Given the description of an element on the screen output the (x, y) to click on. 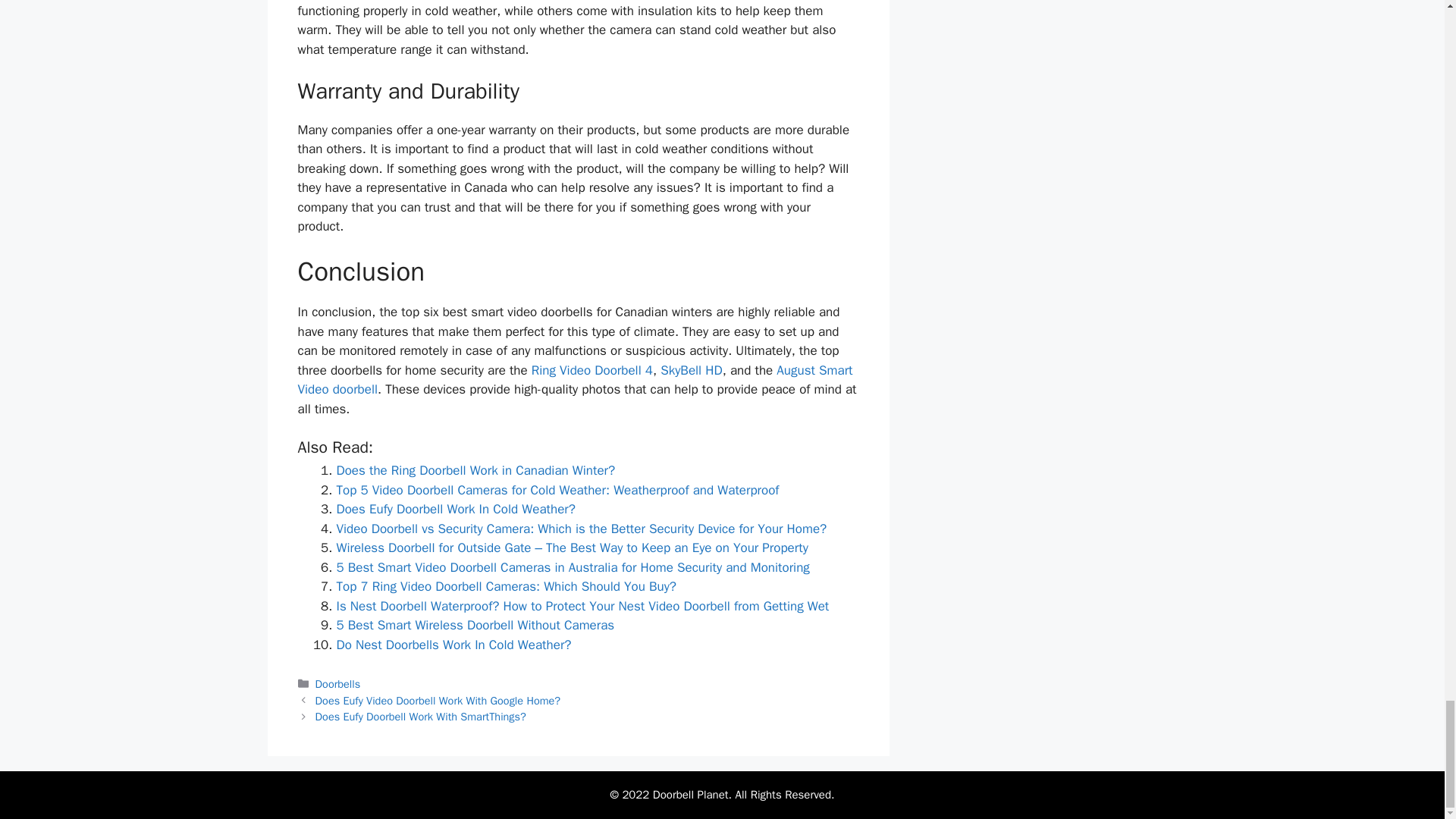
Does the Ring Doorbell Work in Canadian Winter? (475, 470)
SkyBell HD (691, 370)
Ring Video Doorbell 4 (591, 370)
